Given the description of an element on the screen output the (x, y) to click on. 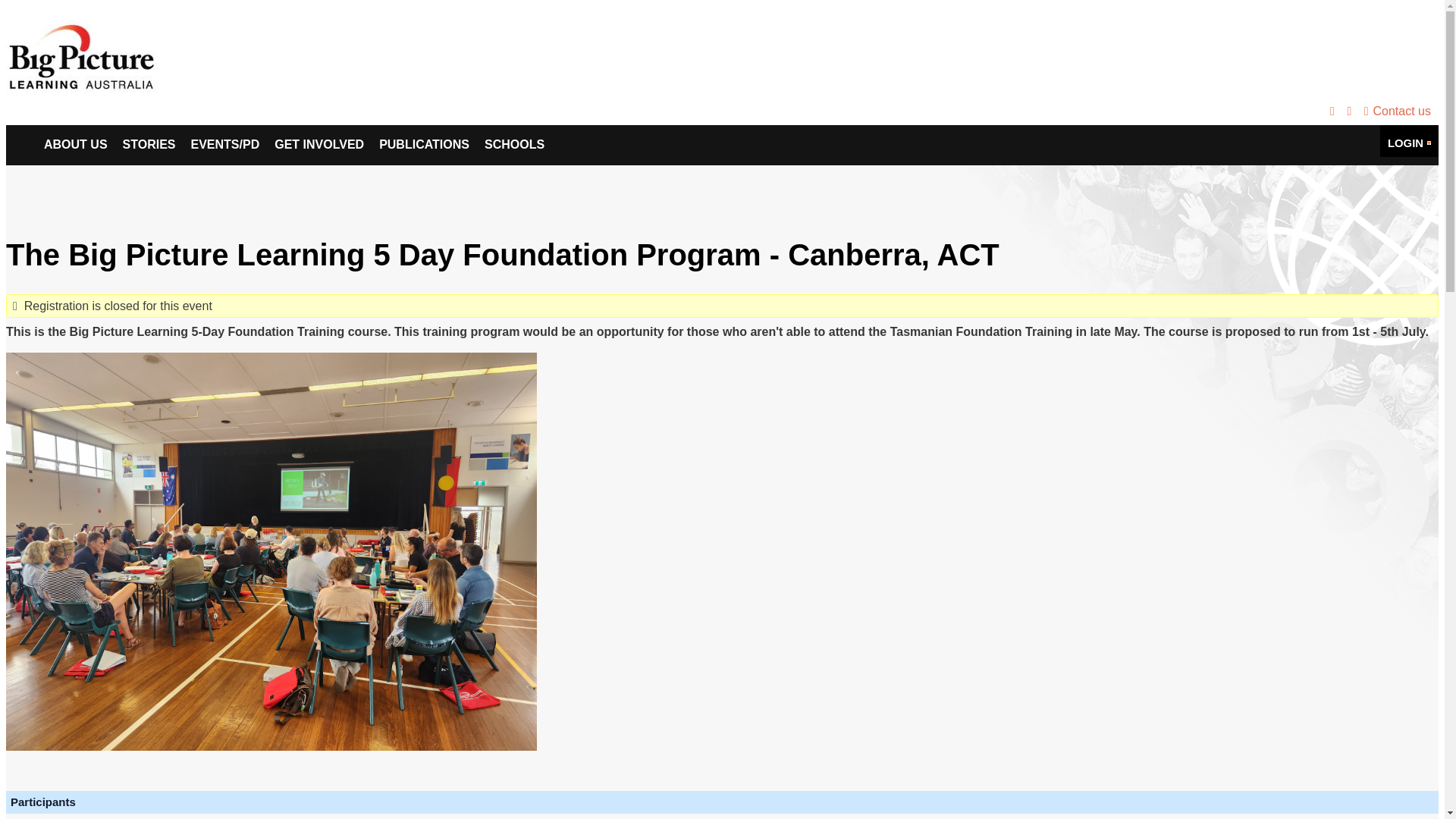
Contact us (1395, 111)
PUBLICATIONS (424, 145)
SCHOOLS (514, 145)
STORIES (149, 145)
GET INVOLVED (318, 145)
ABOUT US (75, 145)
